Given the description of an element on the screen output the (x, y) to click on. 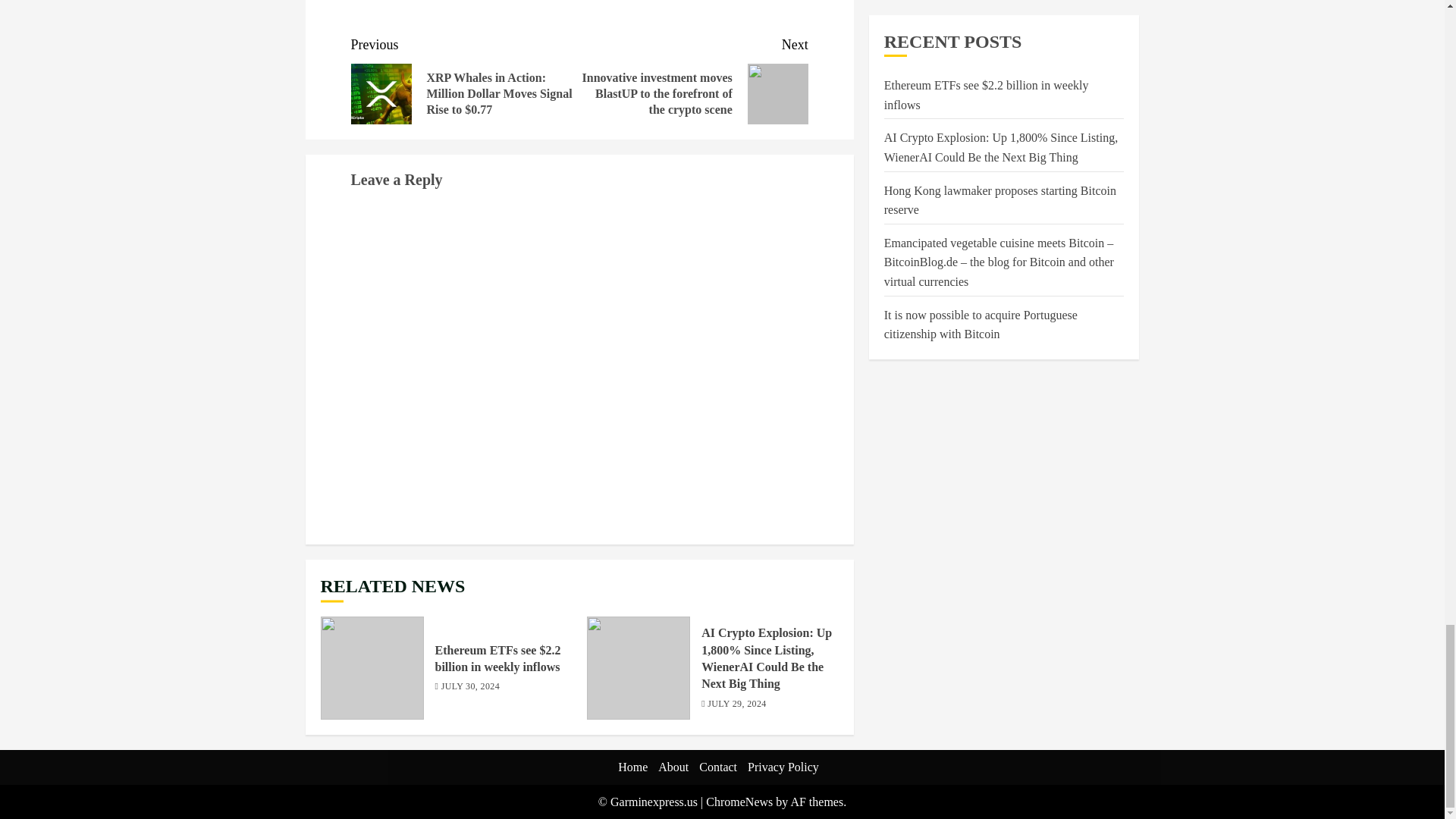
Home (632, 766)
Privacy Policy (783, 766)
ChromeNews (739, 801)
JULY 29, 2024 (736, 704)
About (673, 766)
Contact (717, 766)
JULY 30, 2024 (470, 686)
